Given the description of an element on the screen output the (x, y) to click on. 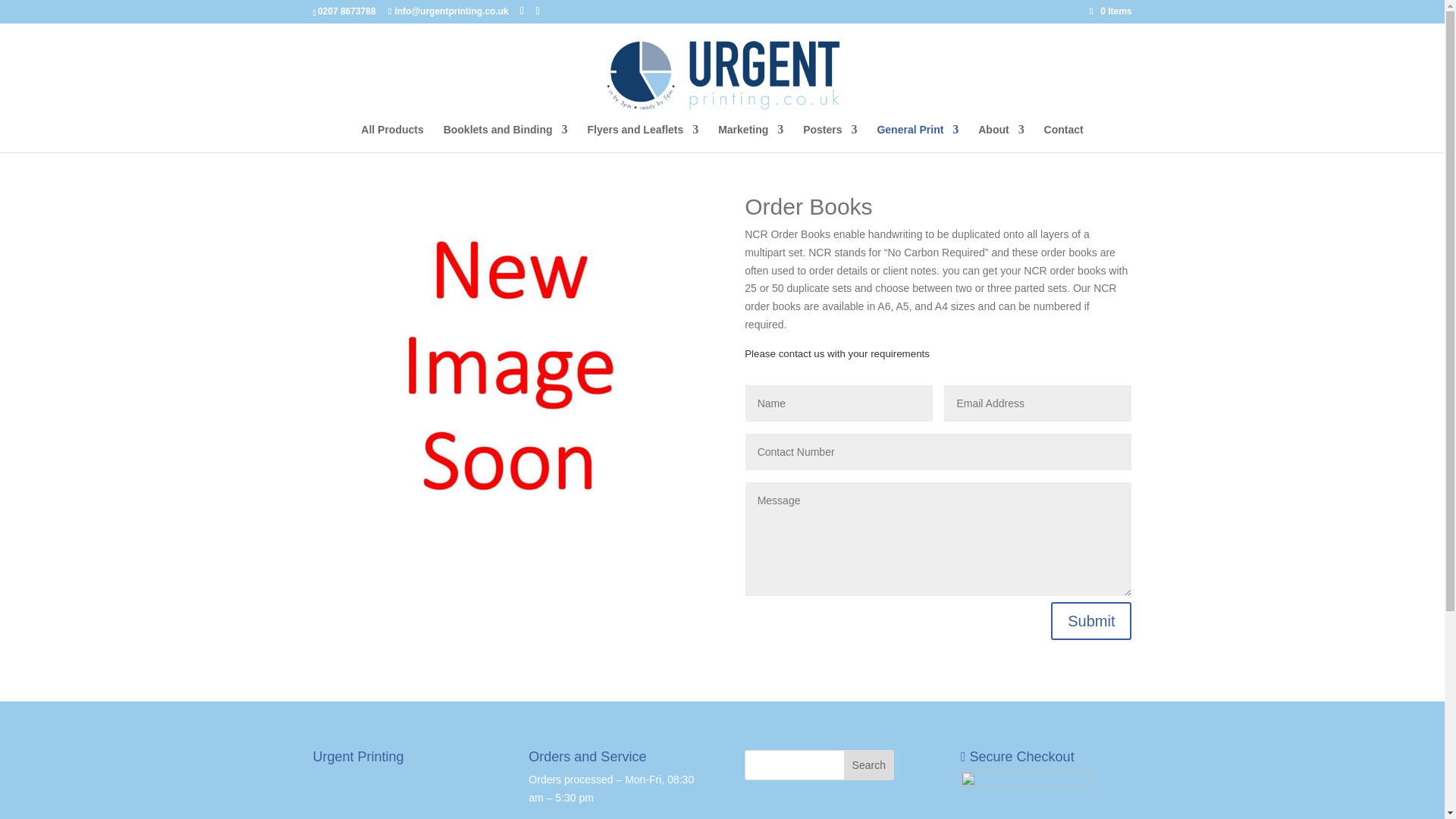
Booklets and Binding (505, 138)
Search (868, 765)
0207 8673788 (346, 10)
Flyers and Leaflets (642, 138)
All Products (392, 138)
Marketing (750, 138)
0 Items (1110, 10)
